Given the description of an element on the screen output the (x, y) to click on. 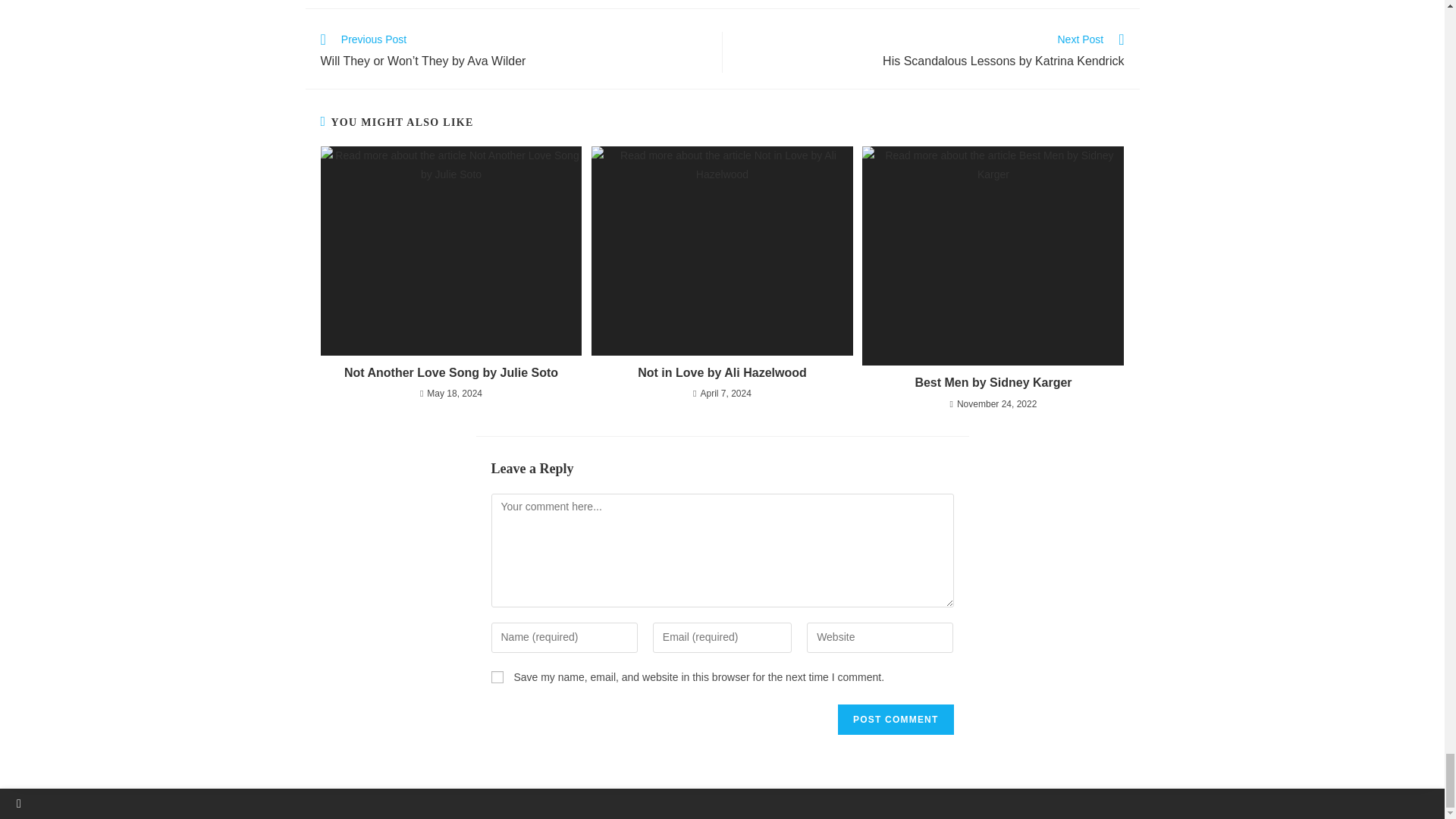
Post Comment (895, 719)
yes (497, 676)
